Given the description of an element on the screen output the (x, y) to click on. 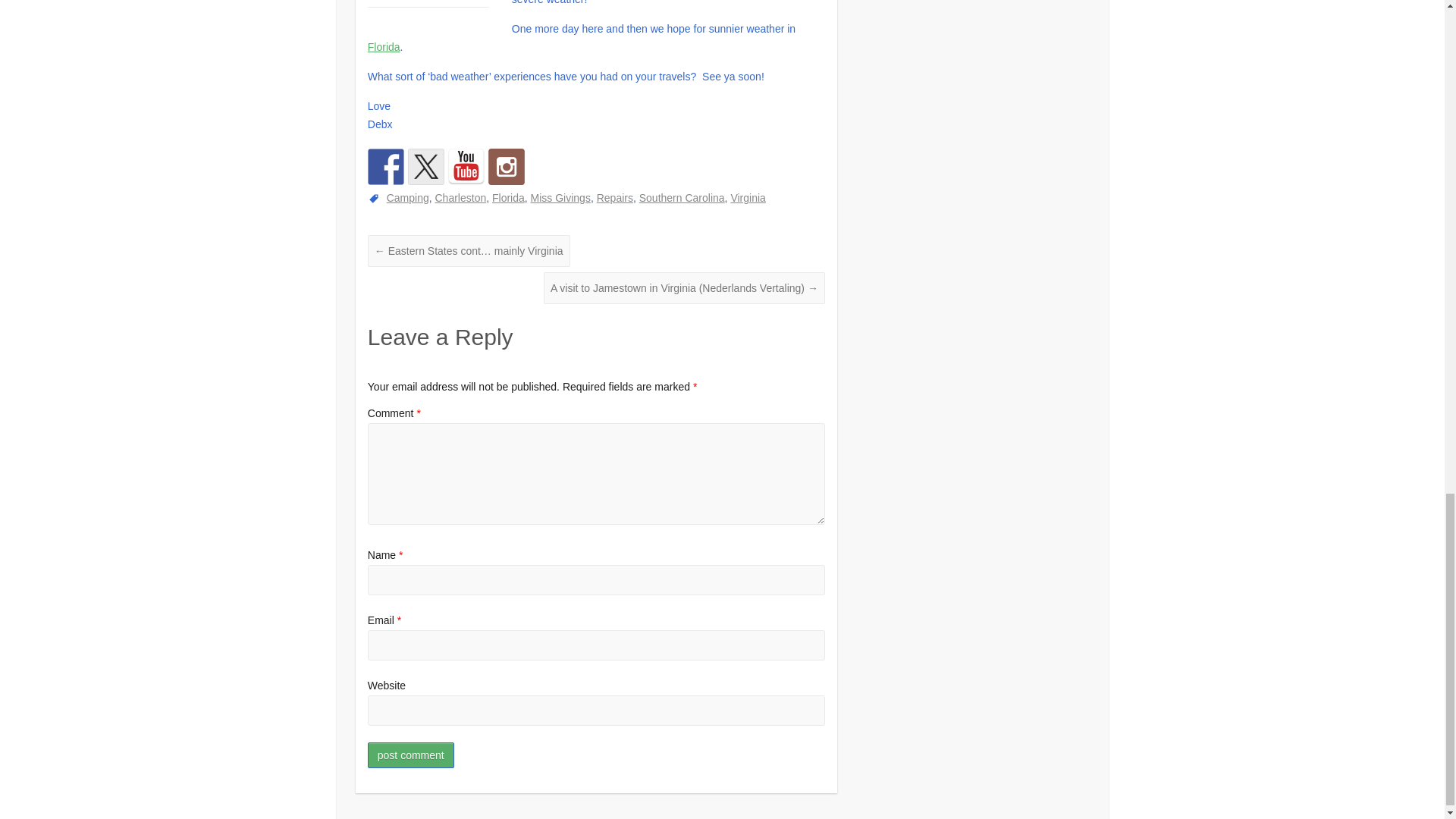
Bridge the Travel Gap (425, 166)
Check out our instagram feed (505, 166)
Post Comment (411, 755)
Bridge the Travel Gap (466, 166)
Florida (384, 46)
Bridge the Travel Gap (386, 166)
